Given the description of an element on the screen output the (x, y) to click on. 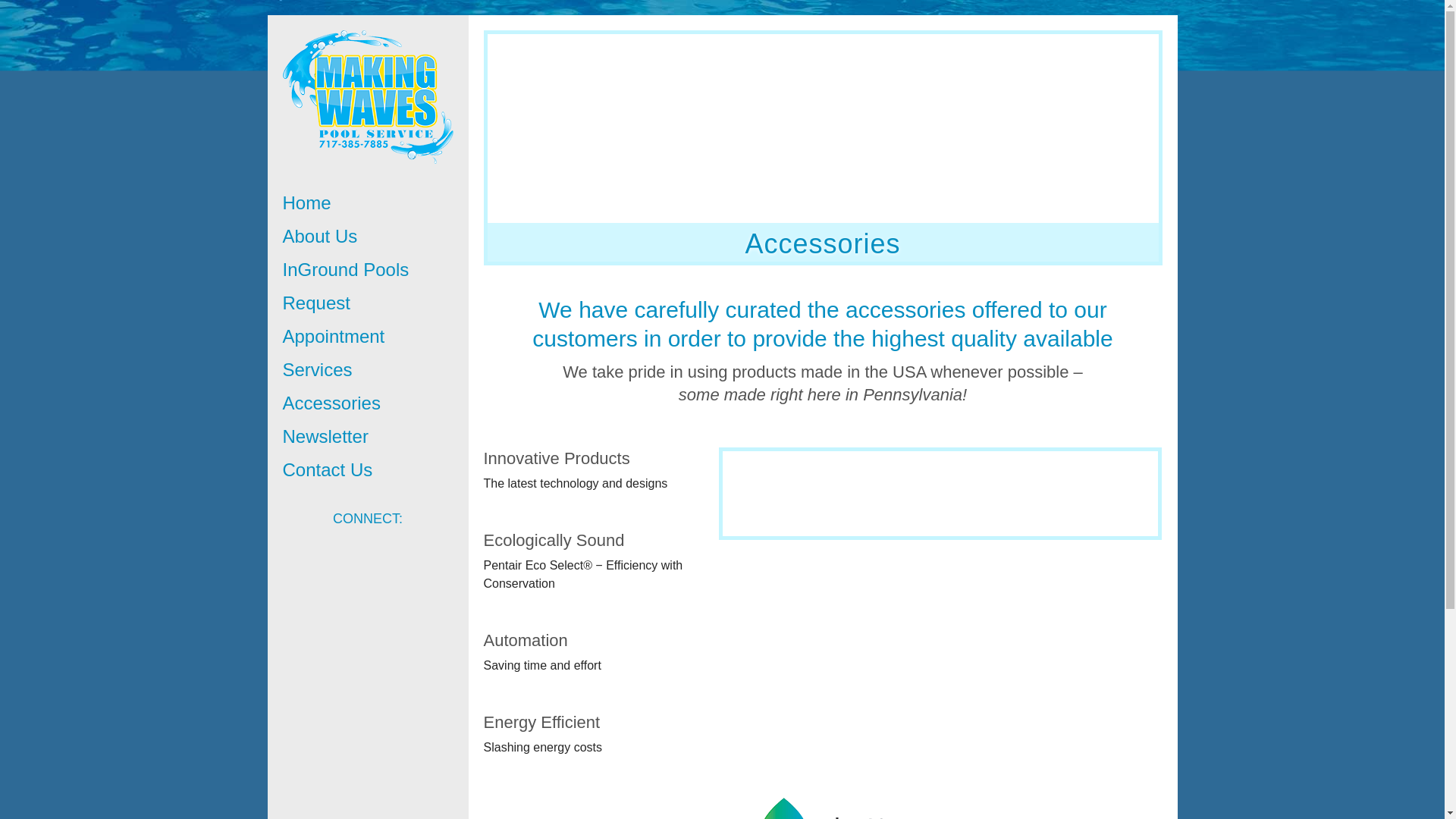
About Us (367, 236)
InGround Pools (367, 269)
Accessories (367, 403)
Services (367, 369)
Request Appointment (367, 319)
Newsletter (367, 436)
Contact Us (367, 469)
Home (367, 203)
